Given the description of an element on the screen output the (x, y) to click on. 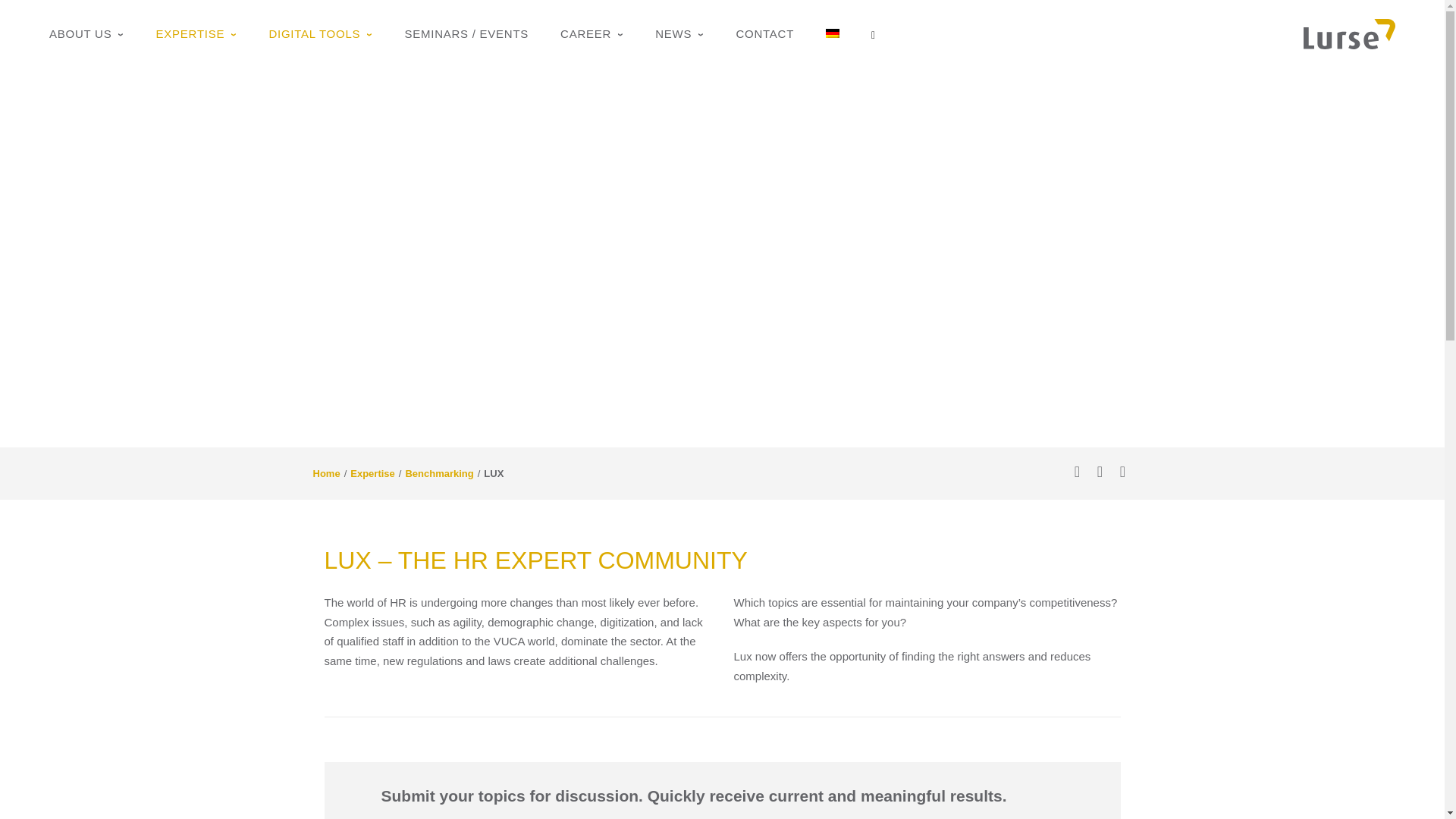
Linkedin (1099, 472)
Xing (1122, 472)
Expertise (372, 473)
Benchmarking (438, 473)
Lurse AG - Erfolg durch strategisches Personalmanagement (1348, 32)
Twitter (1076, 472)
